Given the description of an element on the screen output the (x, y) to click on. 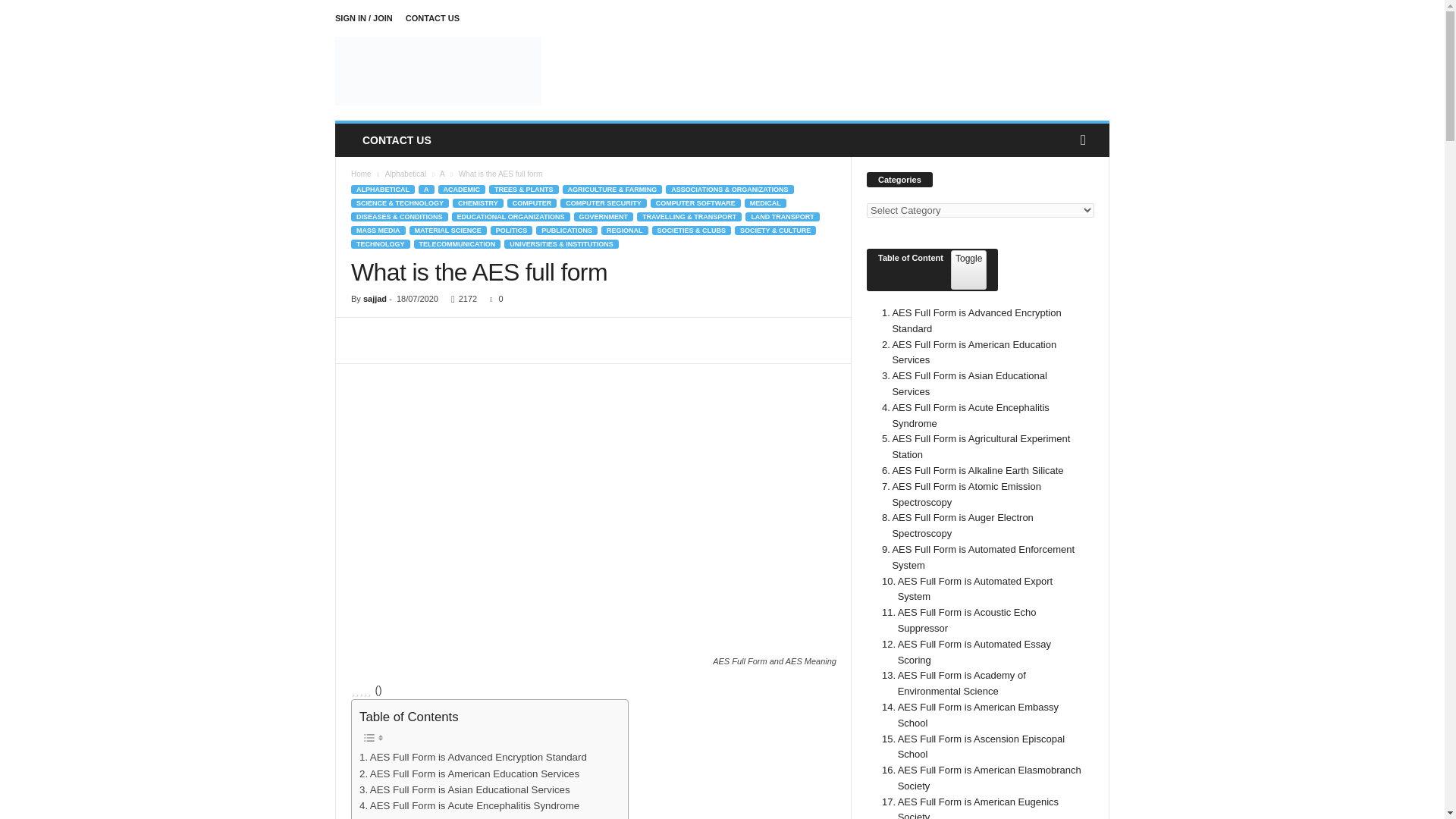
COMPUTER SOFTWARE (695, 203)
PUBLICATIONS (565, 230)
A (426, 189)
MEDICAL (765, 203)
CONTACT US (433, 17)
CONTACT US (396, 140)
LAND TRANSPORT (782, 216)
Alphabetical (405, 173)
COMPUTER SECURITY (603, 203)
MASS MEDIA (378, 230)
